Given the description of an element on the screen output the (x, y) to click on. 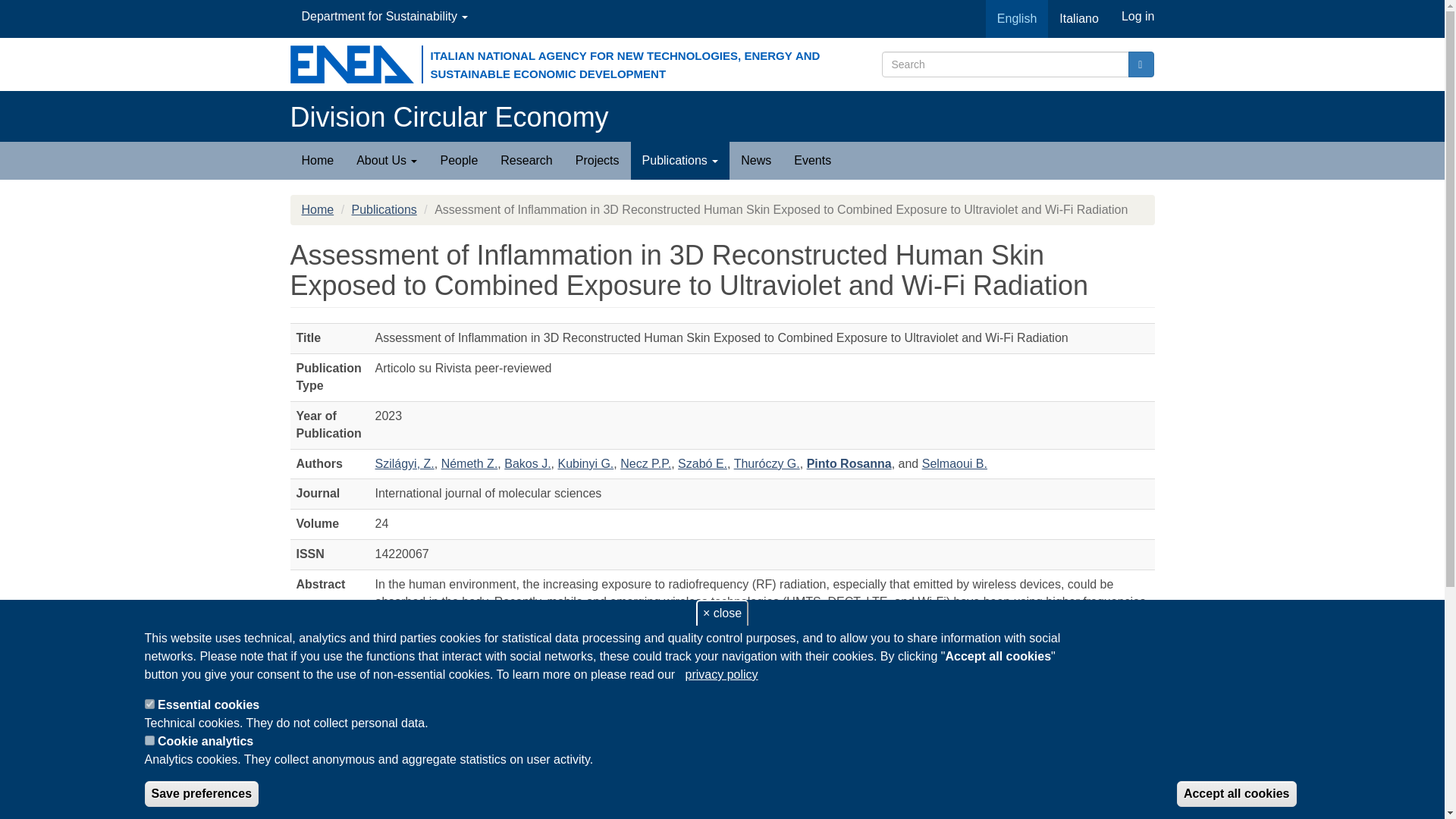
Pagina principale del sito (317, 160)
Department for Sustainability (384, 16)
People (458, 160)
Publications (680, 160)
Cambia lingua (1016, 18)
Search (1141, 63)
Cambia lingua (1078, 18)
Home (448, 117)
News (756, 160)
